Given the description of an element on the screen output the (x, y) to click on. 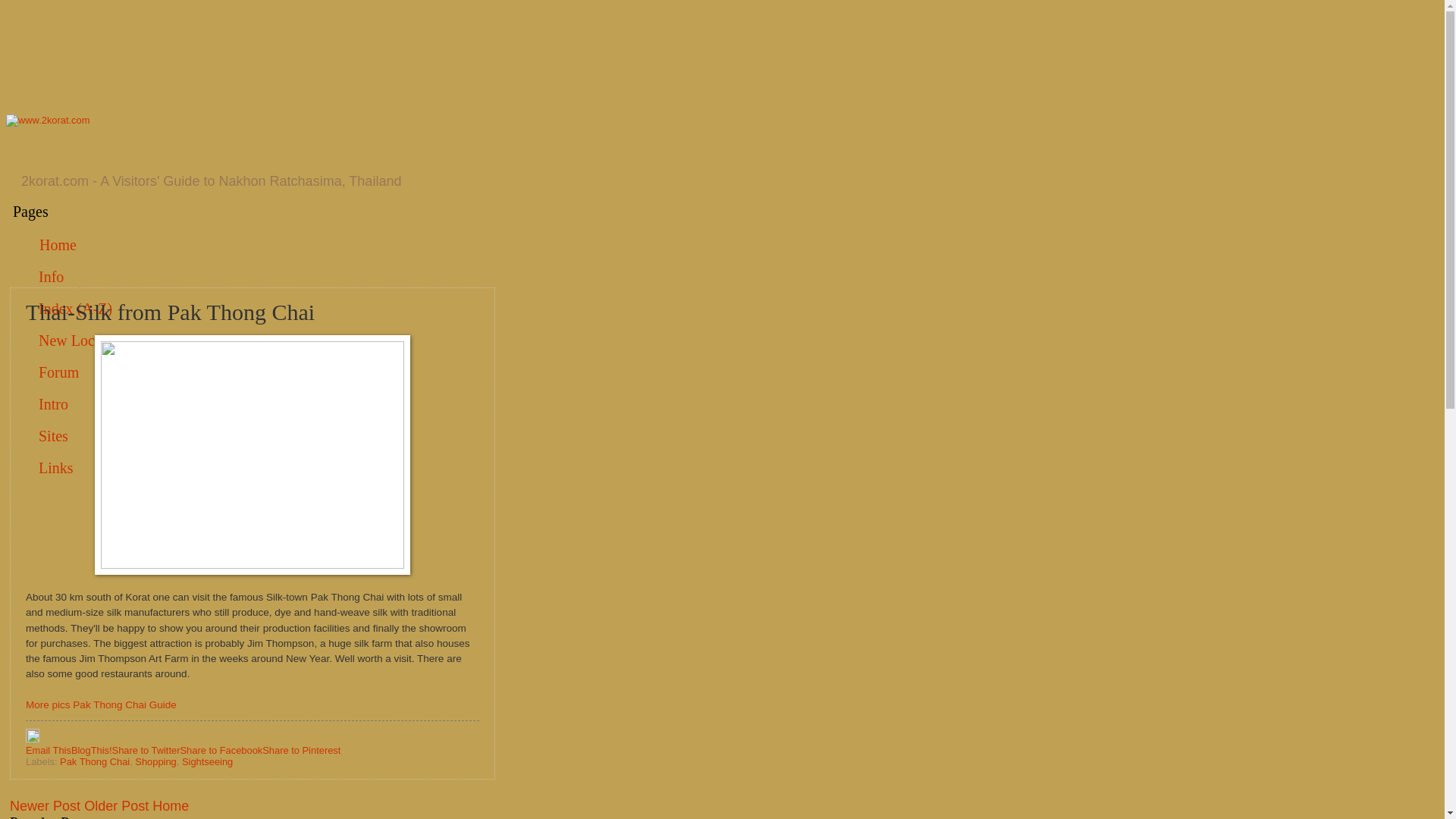
Share to Twitter Element type: text (146, 750)
Share to Pinterest Element type: text (301, 750)
Info Element type: text (51, 276)
Edit Post Element type: hover (32, 738)
Older Post Element type: text (116, 805)
Shopping Element type: text (154, 761)
More pics Element type: text (47, 704)
Forum Element type: text (58, 372)
Intro Element type: text (53, 404)
Share to Facebook Element type: text (220, 750)
Home Element type: text (57, 244)
New Local Forum Element type: text (94, 340)
Pak Thong Chai Element type: text (94, 761)
Links Element type: text (56, 467)
Sightseeing Element type: text (207, 761)
Pak Thong Chai Guide Element type: text (124, 704)
BlogThis! Element type: text (91, 750)
Index (A-Z) Element type: text (75, 308)
Sites Element type: text (53, 435)
Email This Element type: text (48, 750)
Newer Post Element type: text (44, 805)
Home Element type: text (170, 805)
